Given the description of an element on the screen output the (x, y) to click on. 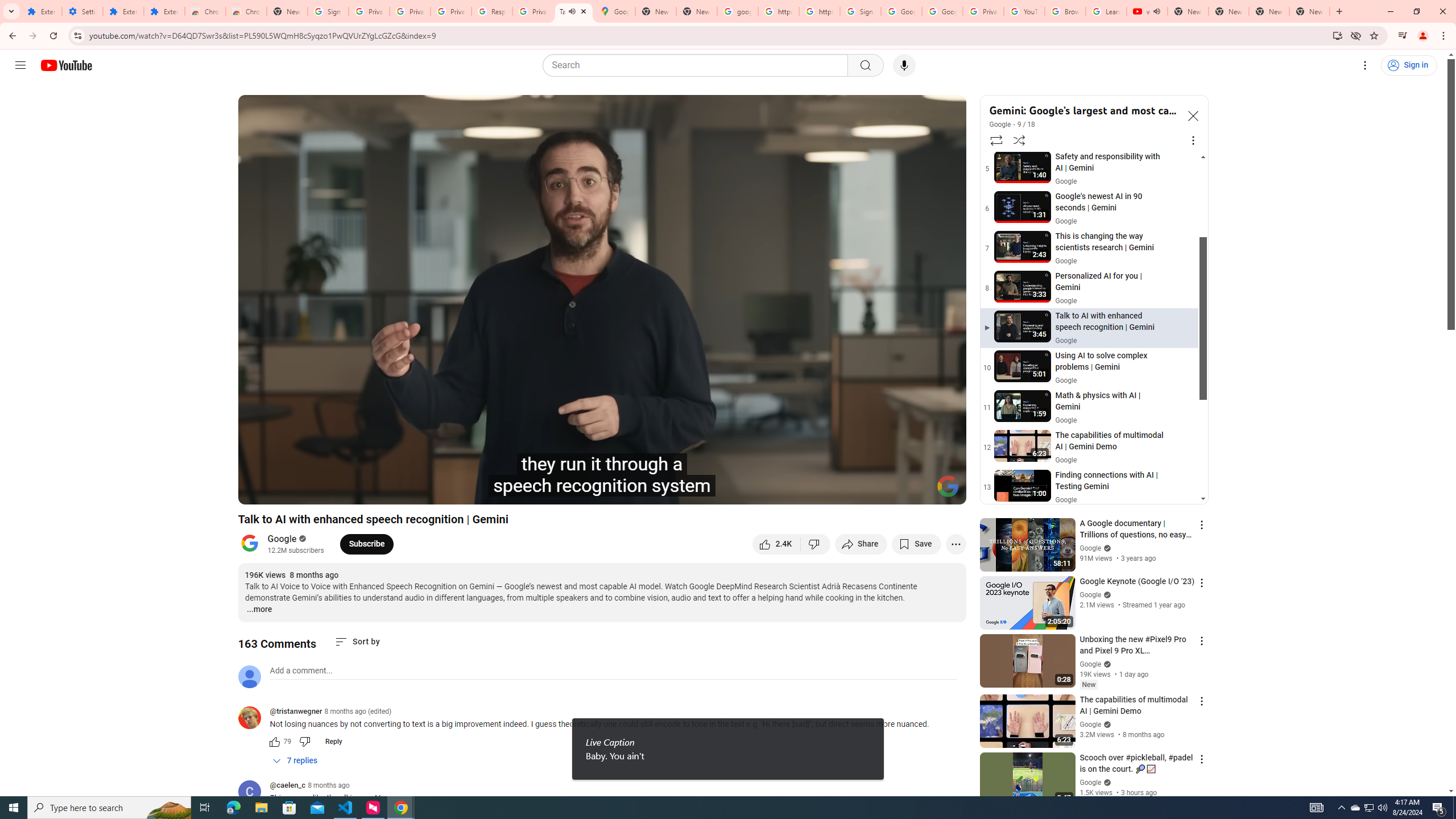
Extensions (163, 11)
Collapse (1192, 115)
New Tab (1309, 11)
Seek slider (601, 476)
New (1087, 684)
8 months ago (edited) (357, 710)
Share (861, 543)
YouTube Home (66, 65)
